Given the description of an element on the screen output the (x, y) to click on. 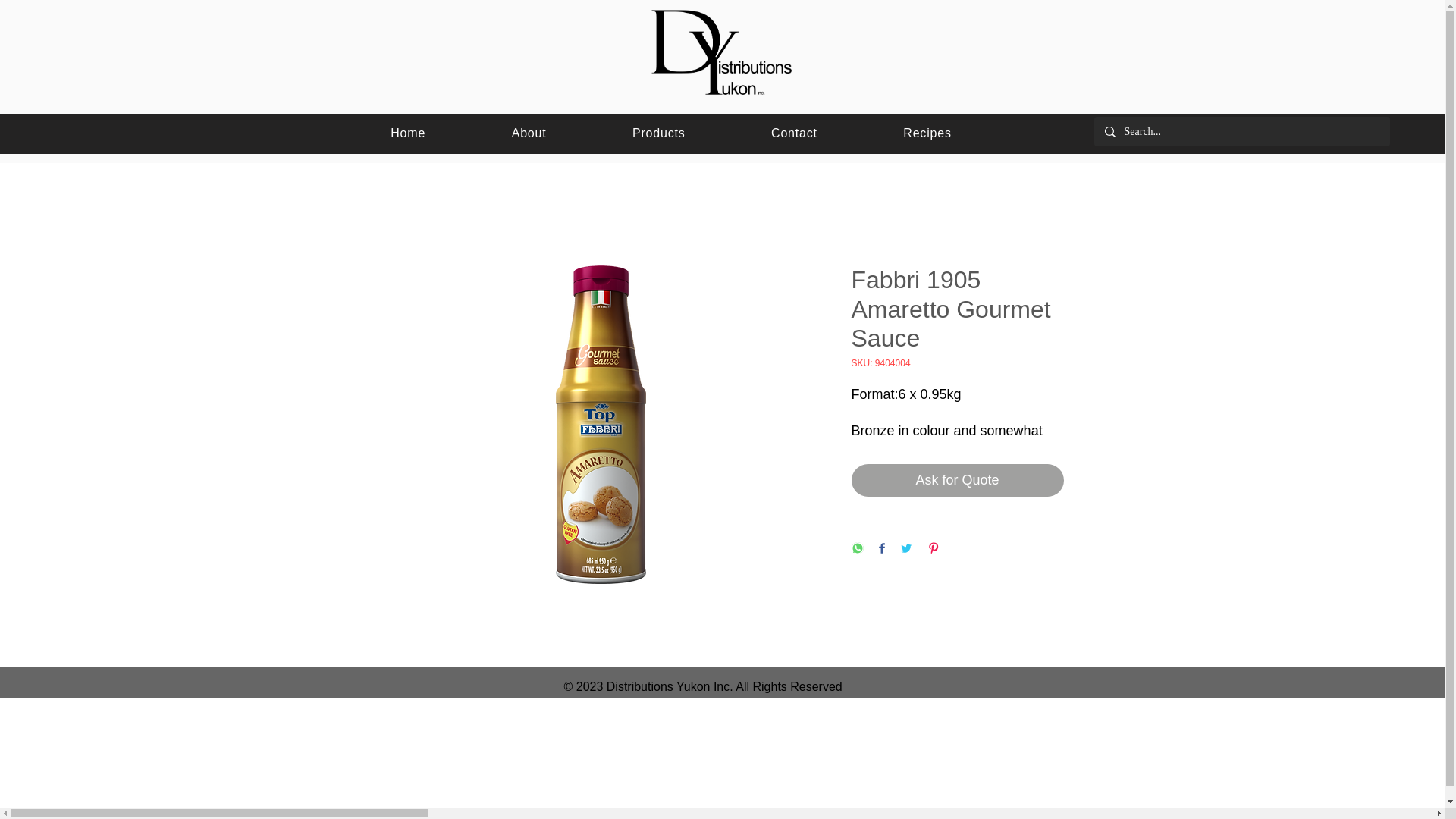
Home (407, 133)
Contact (793, 133)
About (528, 133)
Recipes (927, 133)
